Given the description of an element on the screen output the (x, y) to click on. 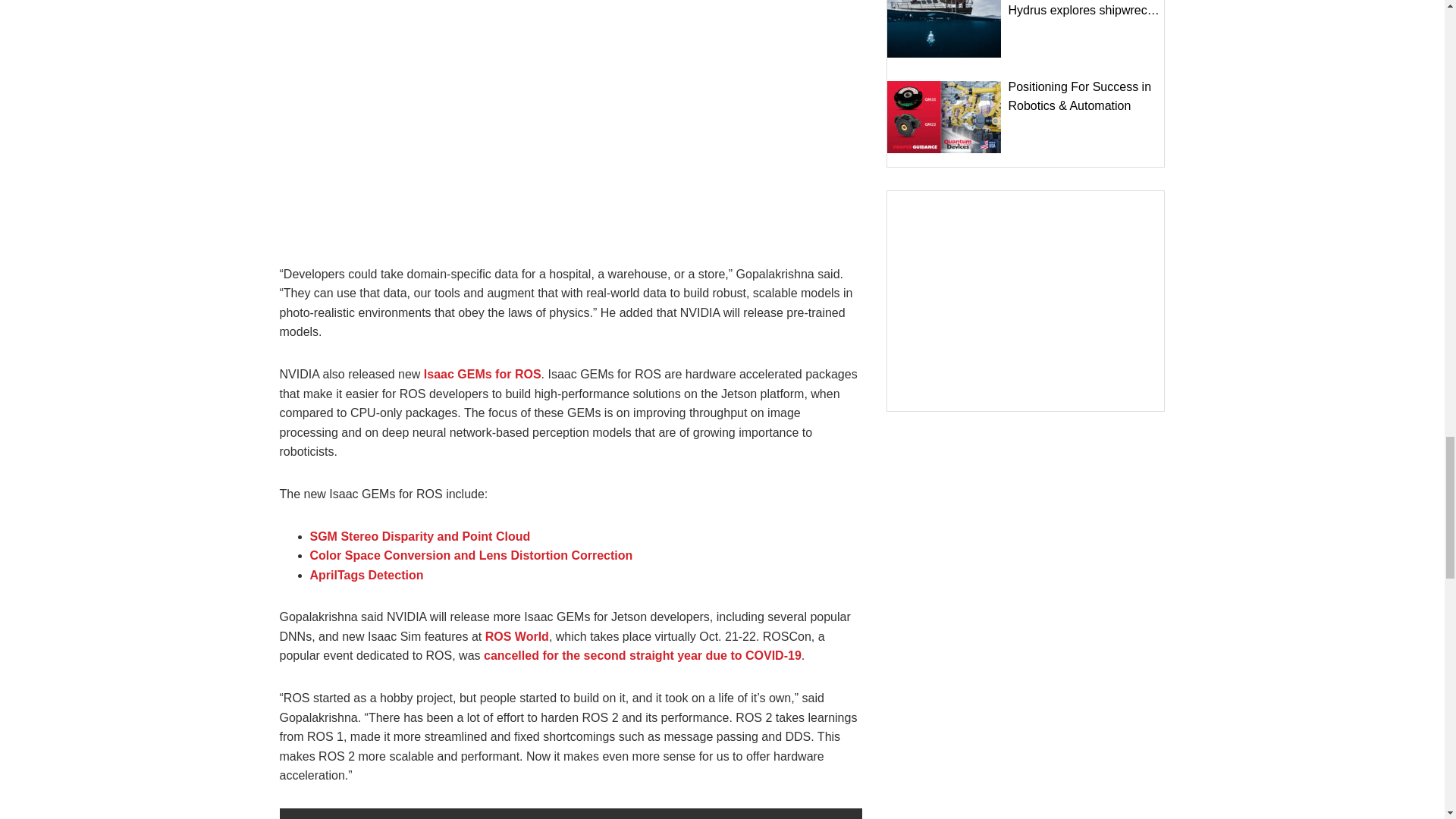
3rd party ad content (1024, 300)
